Given the description of an element on the screen output the (x, y) to click on. 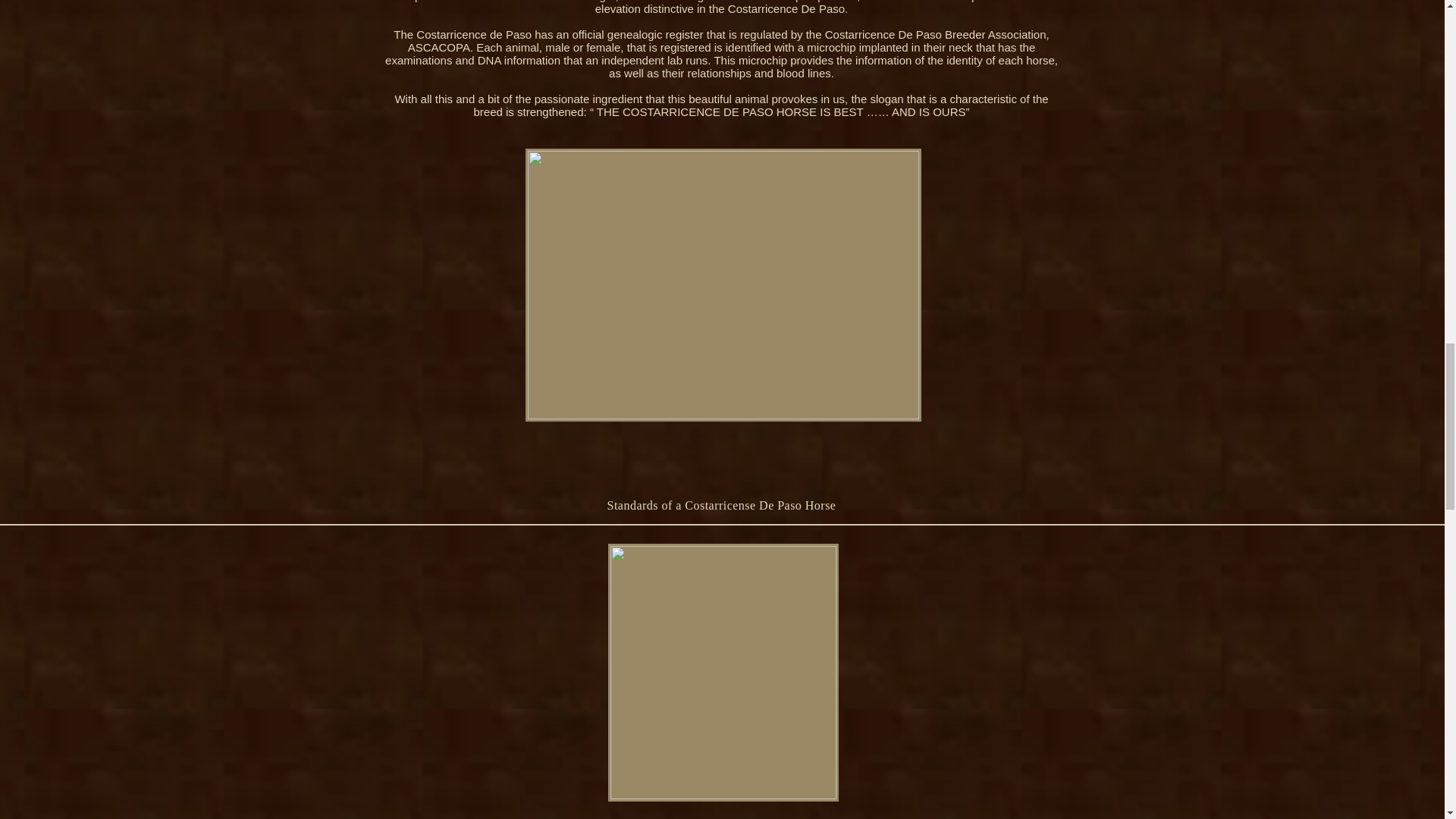
Ponderosa 1.jpg (722, 284)
